Given the description of an element on the screen output the (x, y) to click on. 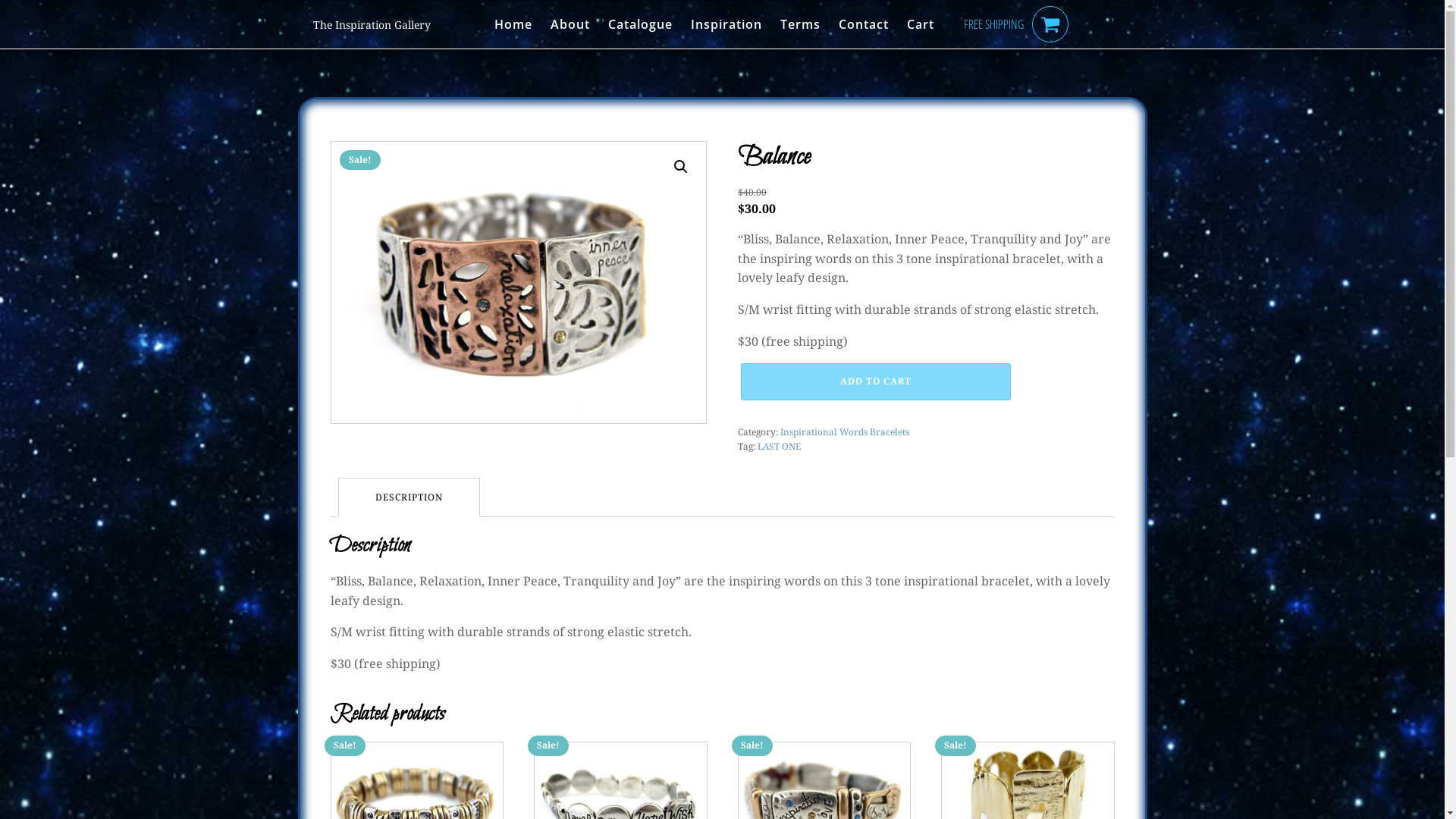
FREE SHIPPING Element type: text (992, 24)
Home Element type: text (513, 24)
ADD TO CART Element type: text (875, 381)
Inspirational Words Bracelets Element type: text (844, 431)
The Inspiration Gallery Element type: text (370, 24)
Inspiration Element type: text (726, 24)
DESCRIPTION Element type: text (408, 497)
balance Element type: hover (517, 282)
LAST ONE Element type: text (778, 445)
Catalogue Element type: text (640, 24)
Terms Element type: text (800, 24)
Cart Element type: text (920, 24)
Contact Element type: text (863, 24)
About Element type: text (570, 24)
